Given the description of an element on the screen output the (x, y) to click on. 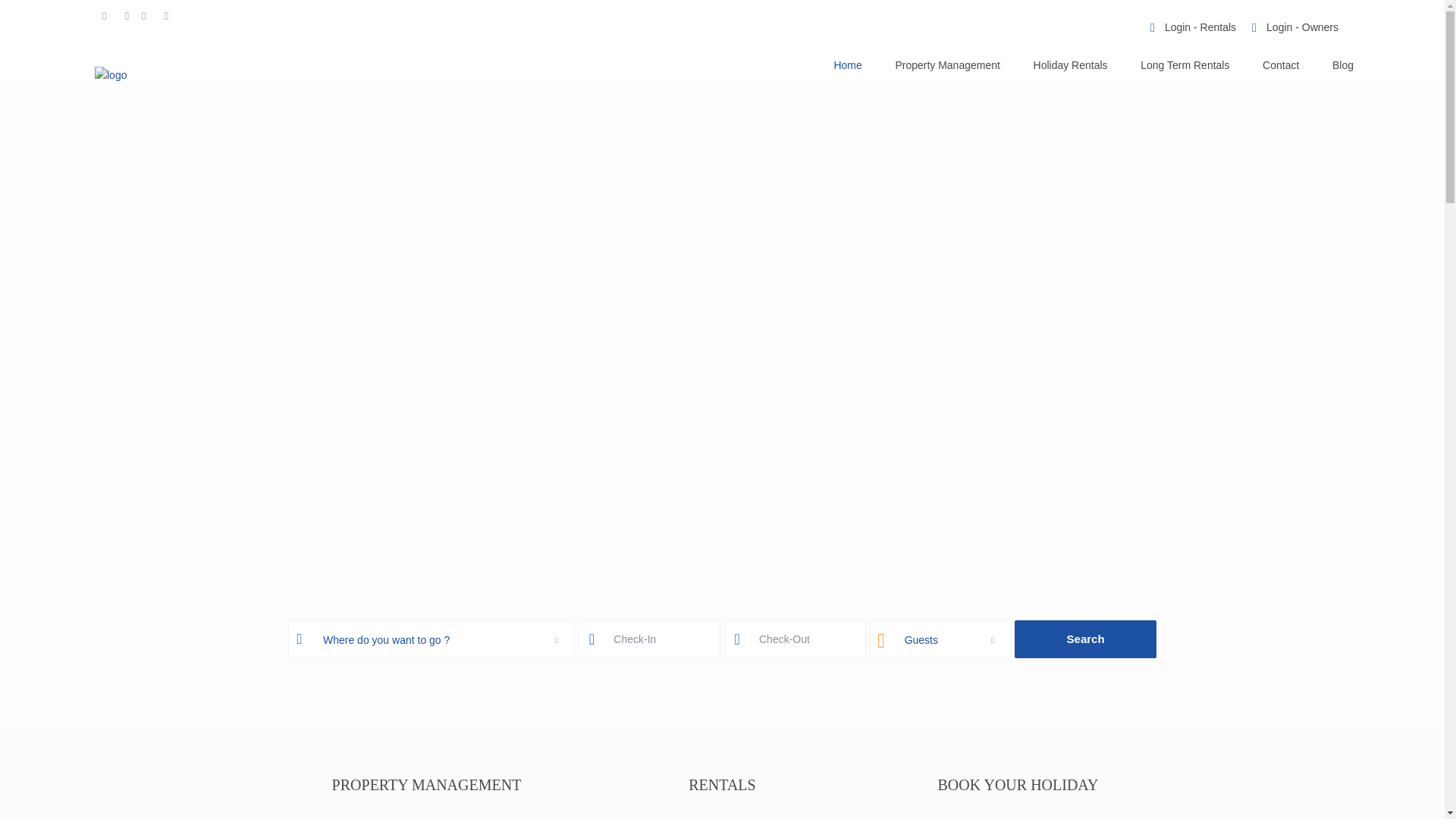
Property Management (946, 64)
Home (847, 64)
Holiday Rentals (1069, 64)
Long Term Rentals (1184, 64)
Contact (1280, 64)
Search (1085, 638)
Login - Owners (1302, 27)
Blog (1342, 64)
Search (1085, 638)
